Given the description of an element on the screen output the (x, y) to click on. 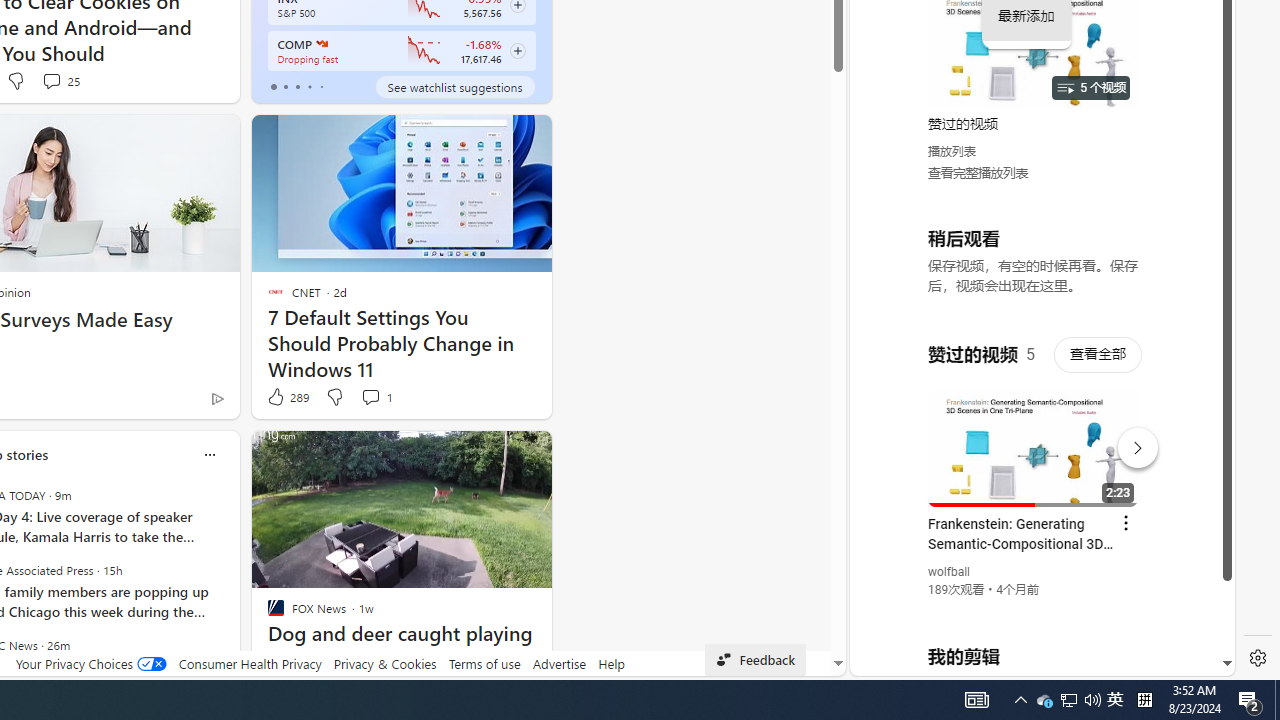
Your Privacy Choices (90, 663)
YouTube (1034, 432)
Hide this story (491, 454)
Click to scroll right (1196, 83)
Class: dict_pnIcon rms_img (1028, 660)
tab-4 (320, 86)
Class: follow-button  m (517, 51)
289 Like (287, 397)
you (1034, 609)
